Given the description of an element on the screen output the (x, y) to click on. 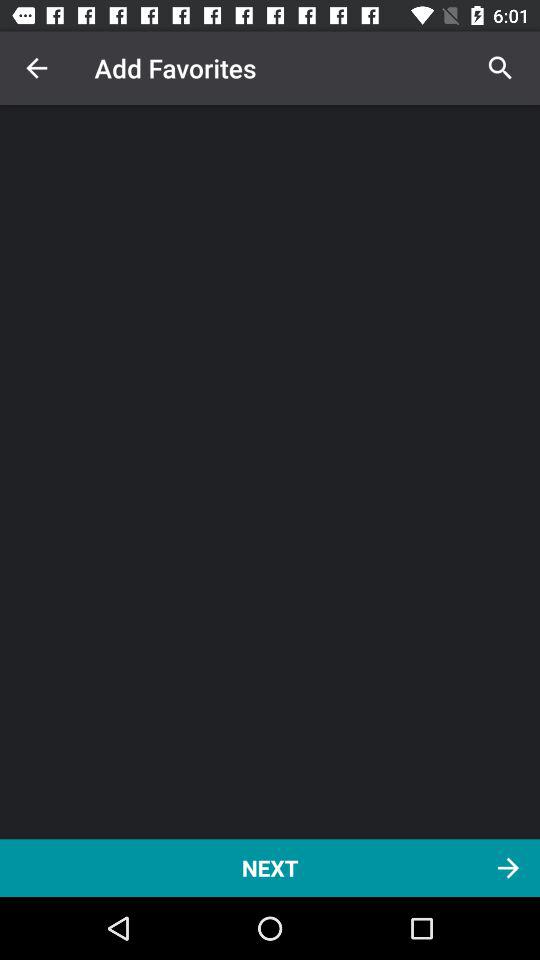
turn off icon at the top right corner (500, 67)
